Given the description of an element on the screen output the (x, y) to click on. 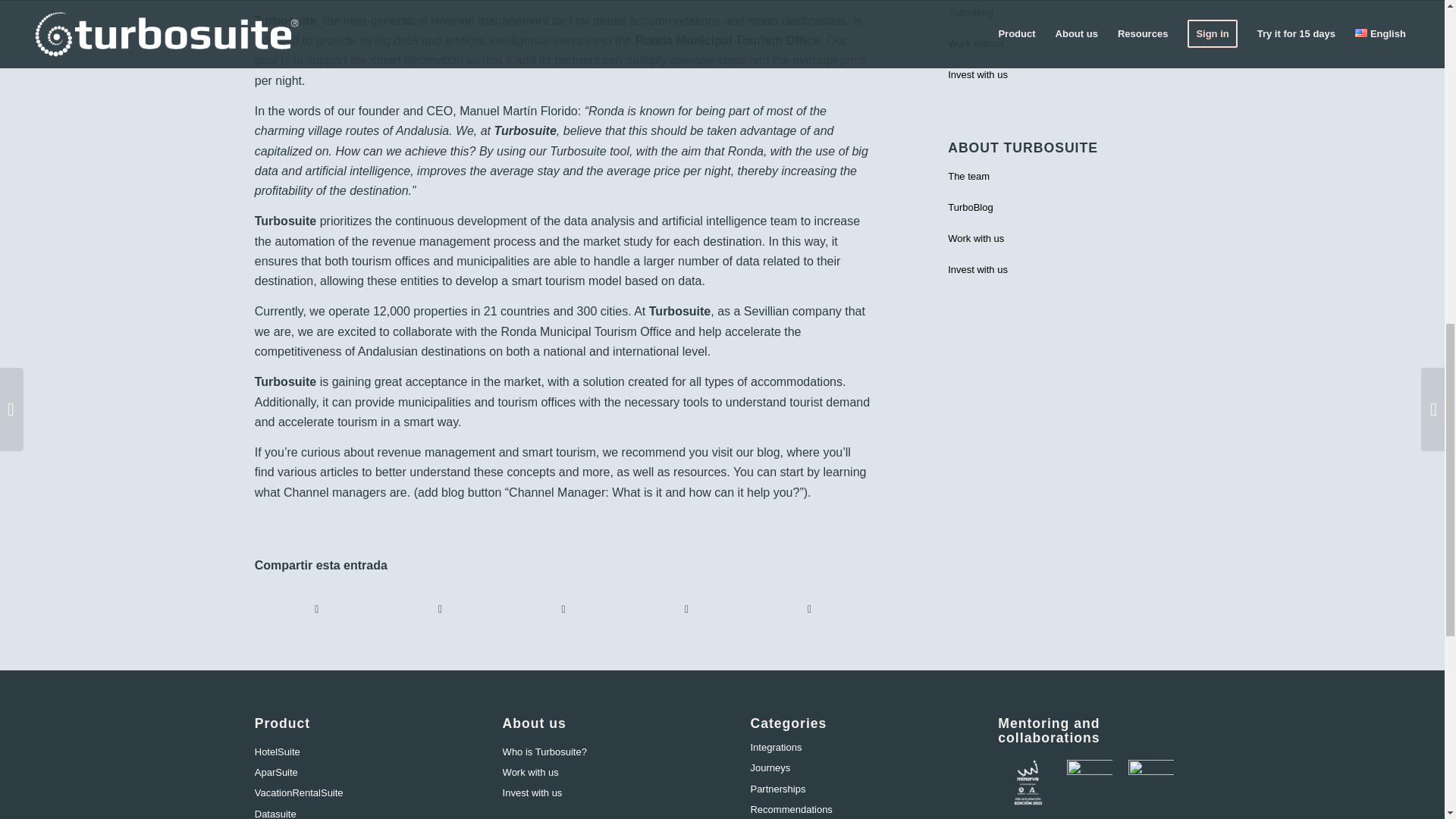
logo minerva (1027, 782)
logo tourism hub costa sol (1089, 782)
logo innventuur (1150, 782)
Ronda Municipal Tourism Office (585, 331)
Ronda Municipal Tourism Office (726, 40)
